Given the description of an element on the screen output the (x, y) to click on. 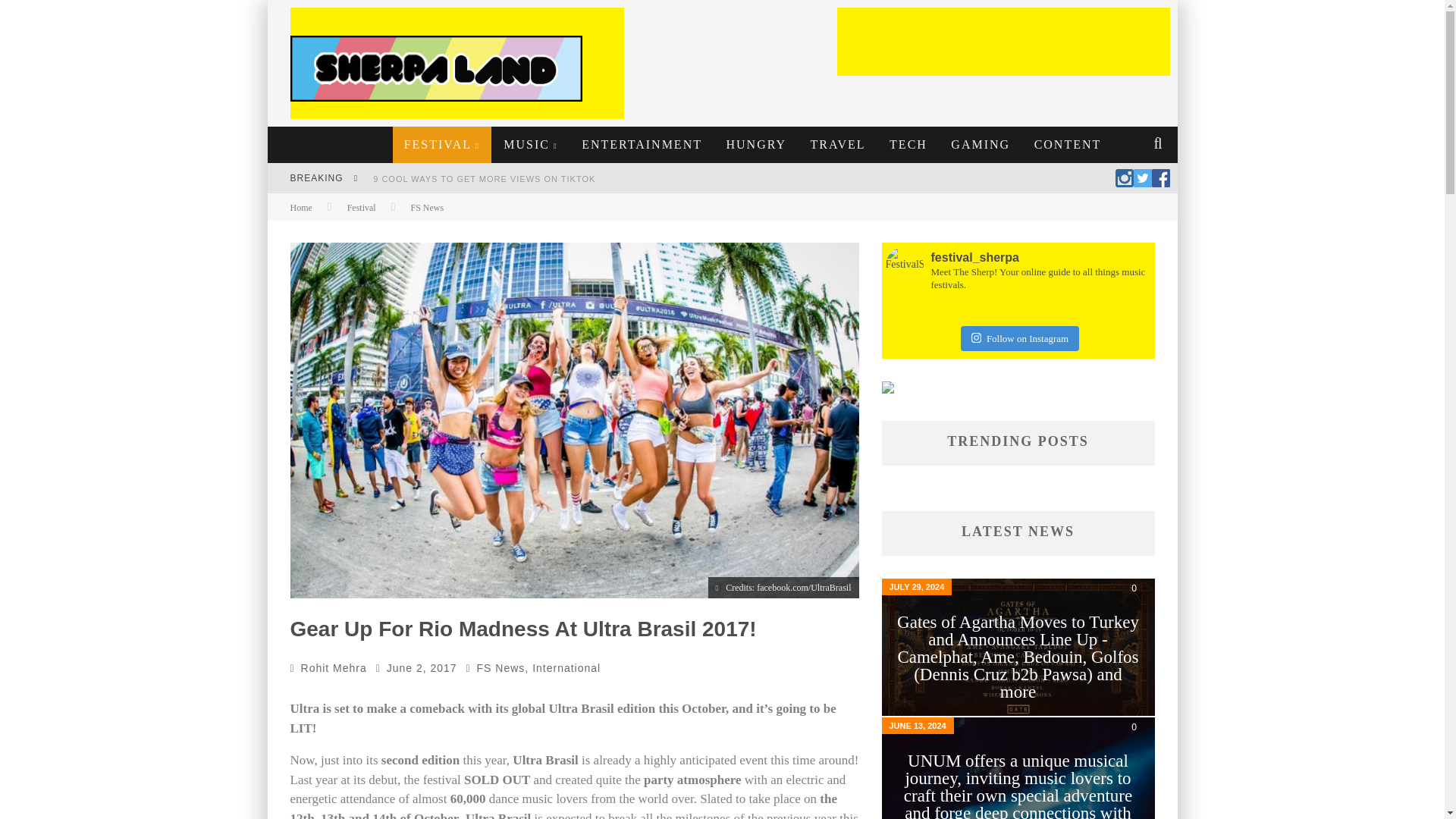
FESTIVAL (442, 144)
Log In (721, 470)
9 Cool Ways to Get More Views on TikTok (483, 178)
View all posts in Festival (361, 207)
